Given the description of an element on the screen output the (x, y) to click on. 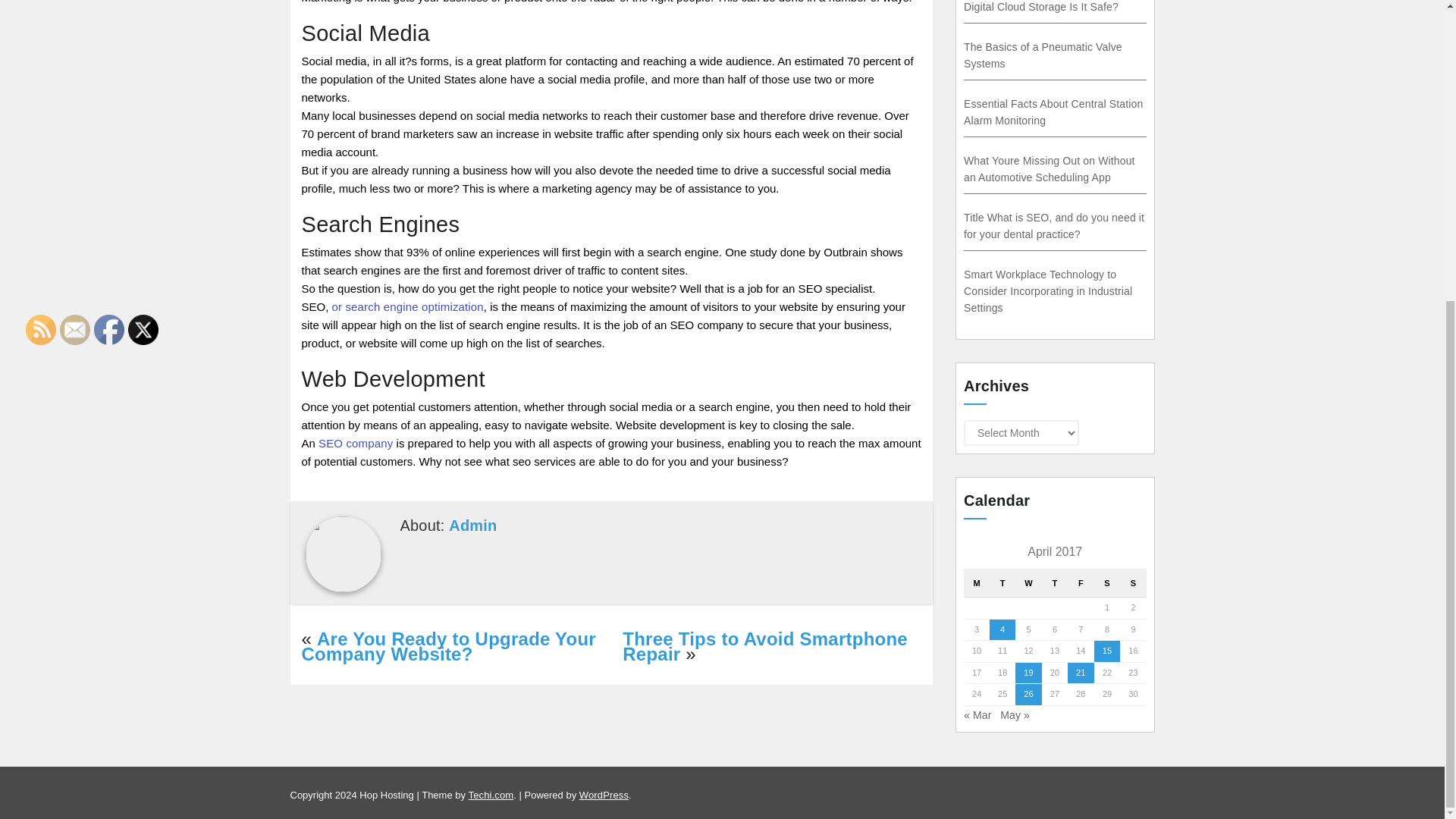
Wednesday (1028, 583)
SEO company (355, 442)
More things online (355, 442)
Thursday (1054, 583)
Facebook (108, 329)
Three Tips to Avoid Smartphone Repair (765, 646)
Admin (472, 524)
or search engine optimization (407, 306)
